Given the description of an element on the screen output the (x, y) to click on. 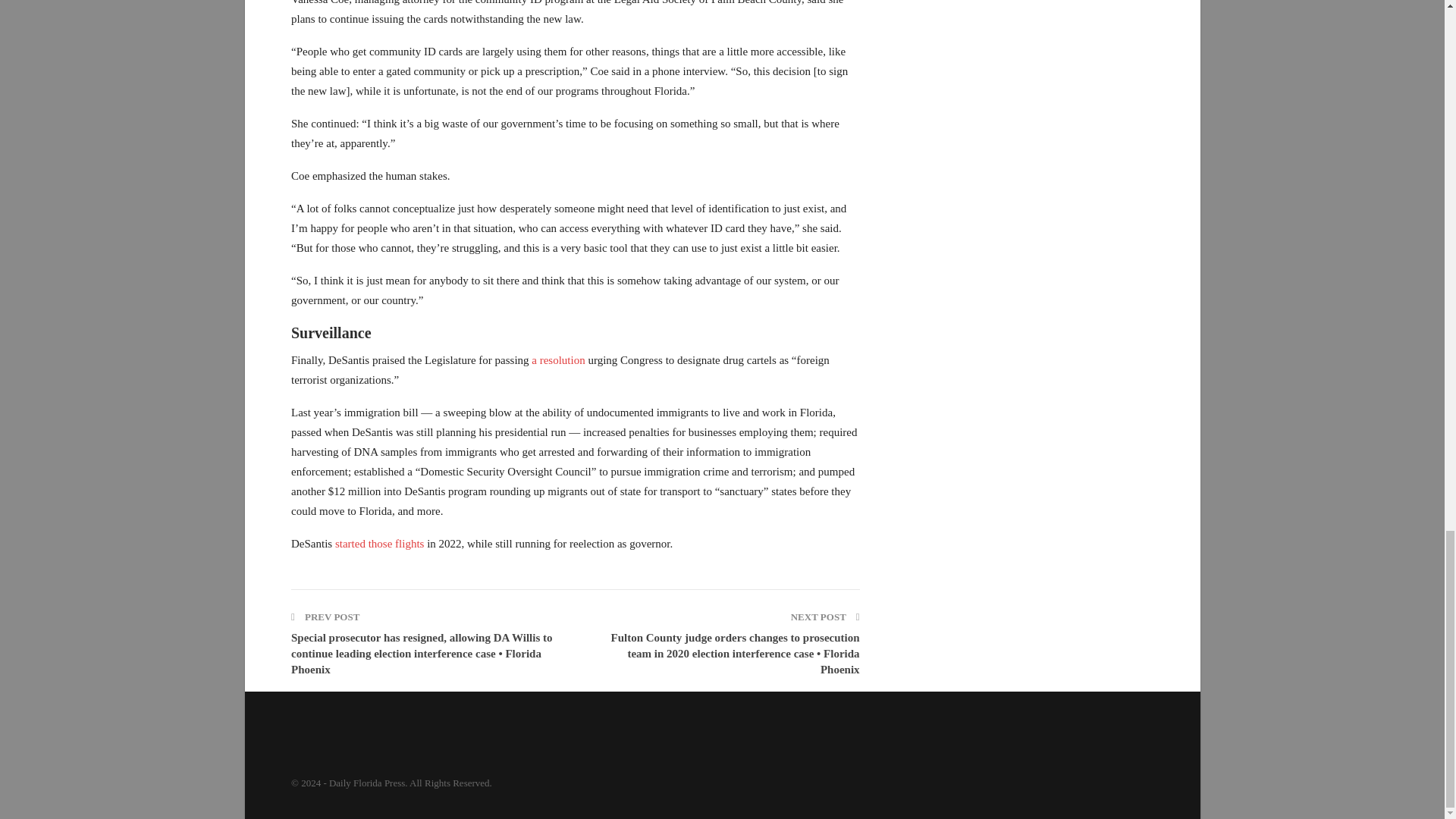
a resolution (558, 359)
